Given the description of an element on the screen output the (x, y) to click on. 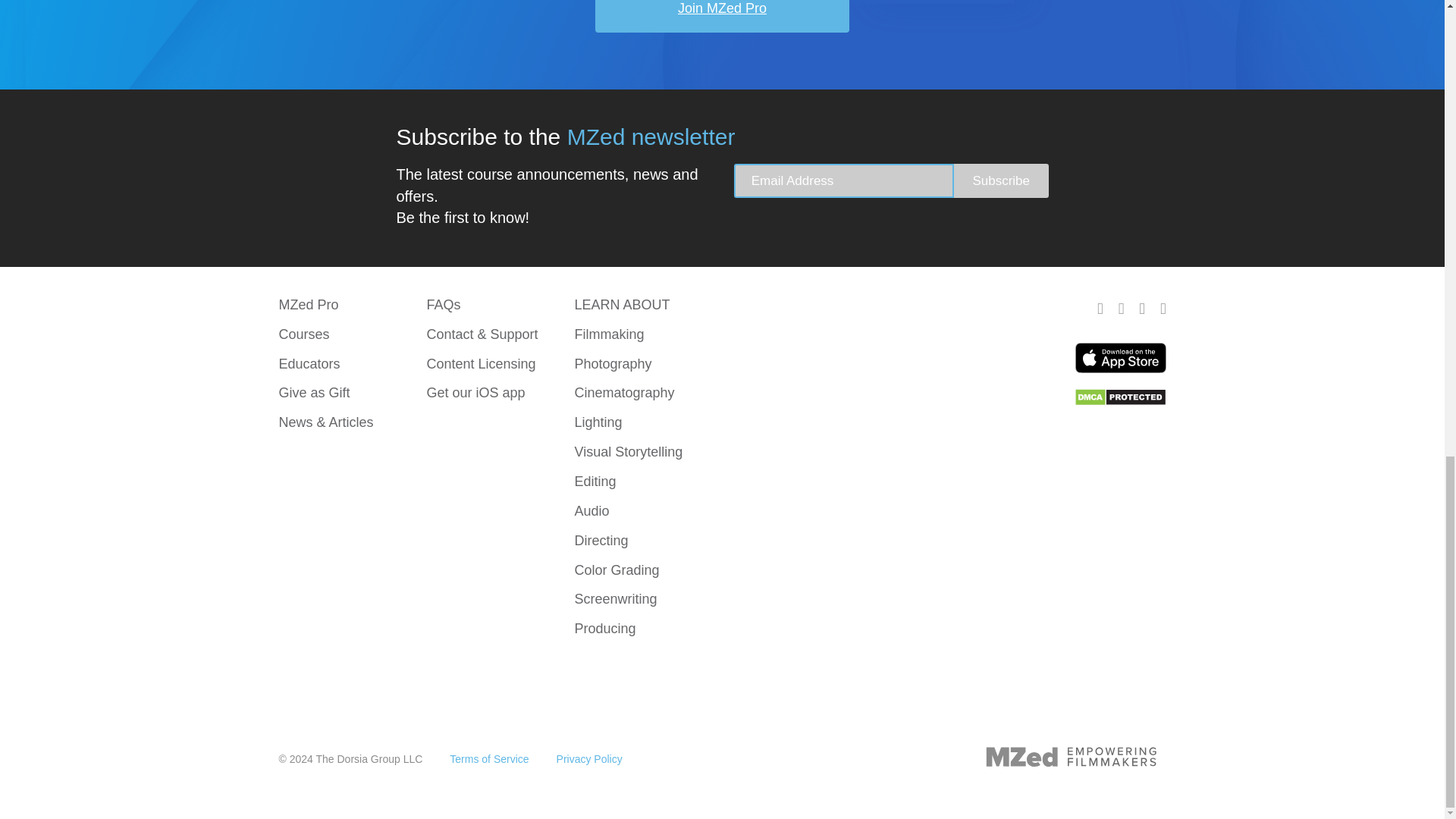
MZed Pro (309, 304)
Lighting (597, 421)
Courses (304, 334)
Visual Storytelling (627, 451)
Cinematography (623, 392)
Educators (309, 363)
Join MZed Pro (721, 16)
Get our iOS app (475, 392)
LEARN ABOUT (621, 304)
FAQs (443, 304)
